Given the description of an element on the screen output the (x, y) to click on. 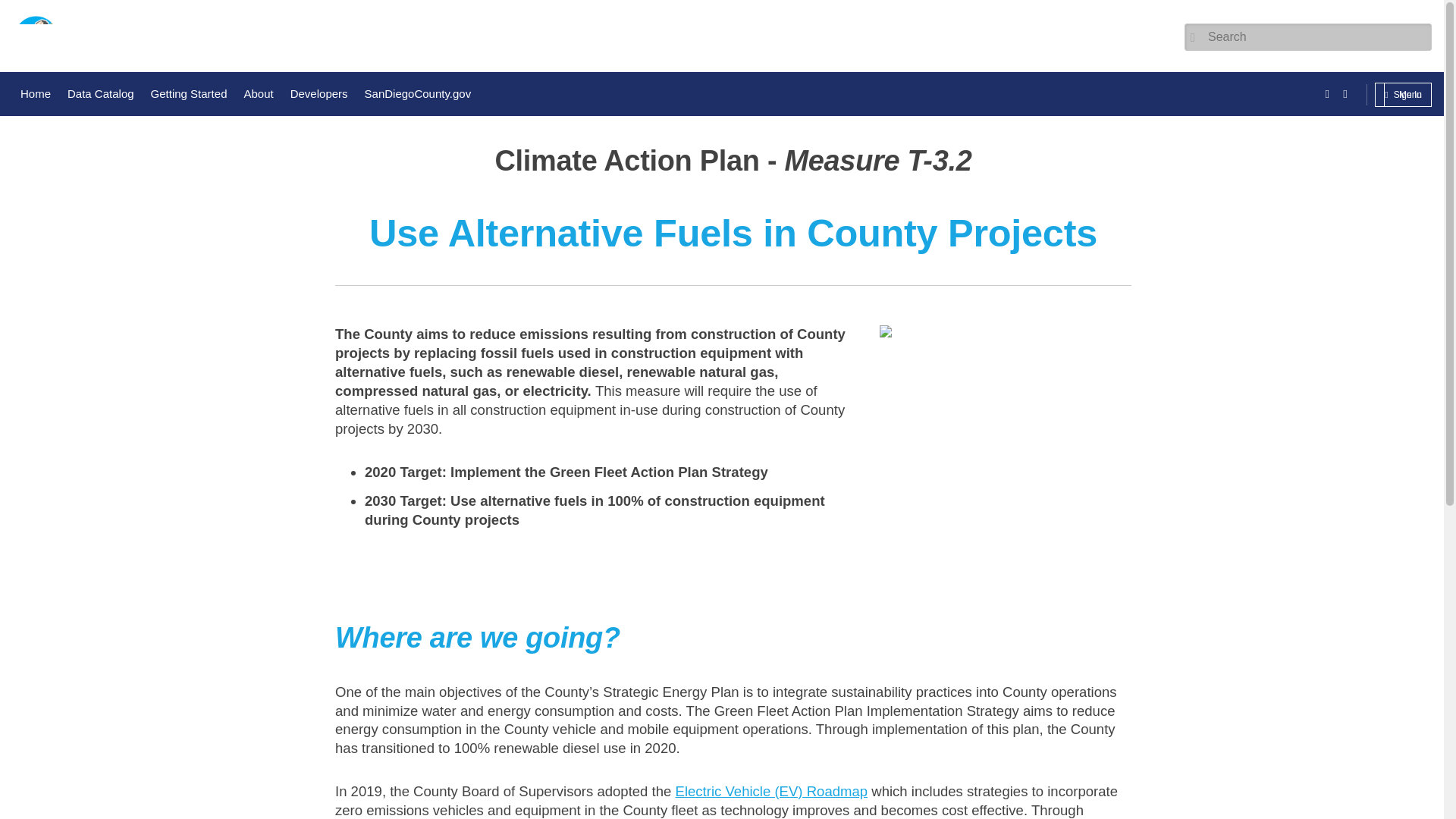
Developers (319, 94)
Menu (1402, 94)
About (257, 94)
SanDiegoCounty.gov (418, 94)
Data Catalog (100, 94)
Getting Started (188, 94)
Sign In (1407, 94)
Home (35, 94)
